Given the description of an element on the screen output the (x, y) to click on. 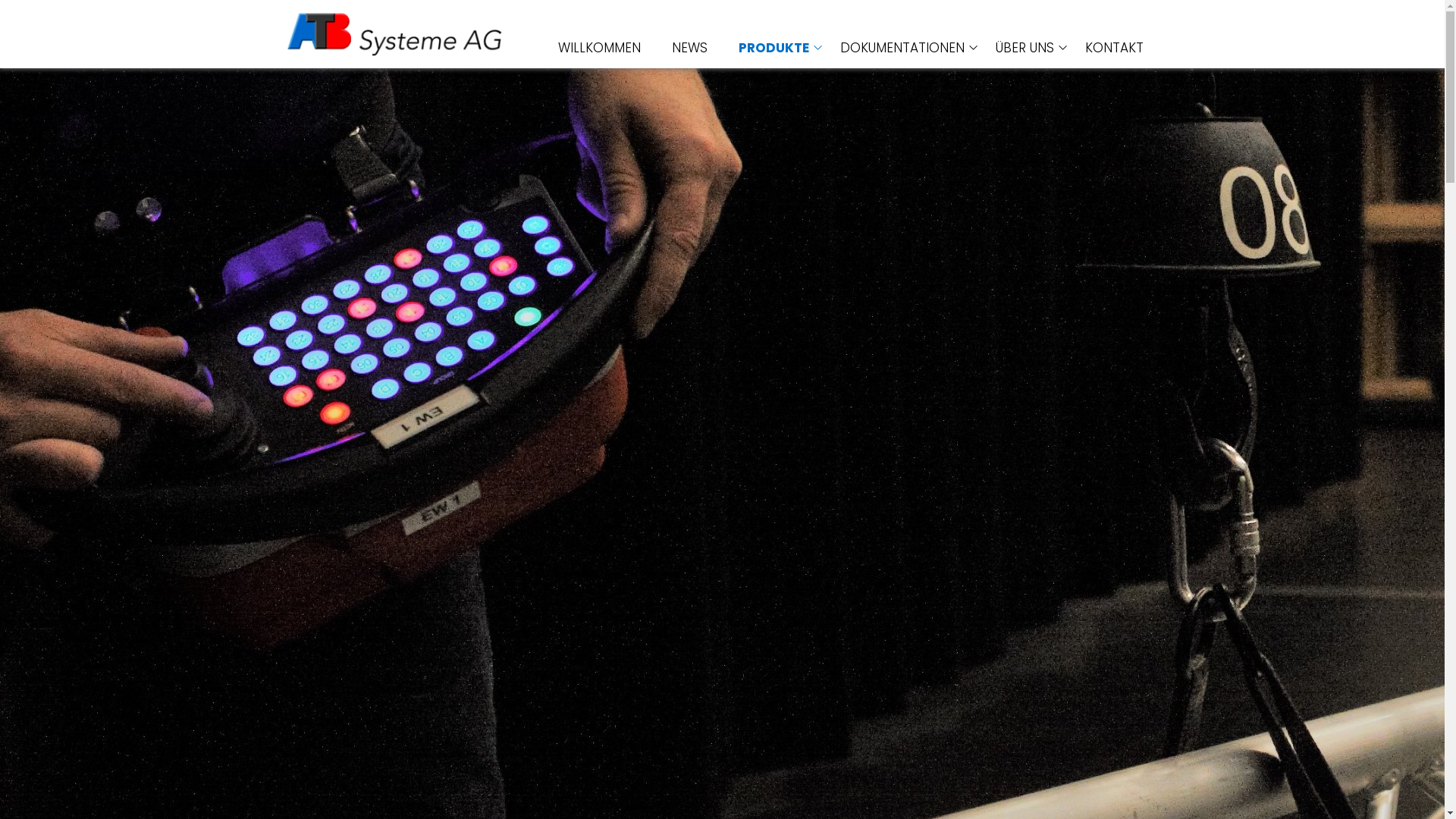
DOKUMENTATIONEN Element type: text (902, 47)
KONTAKT Element type: text (1113, 47)
PRODUKTE Element type: text (773, 47)
WILLKOMMEN Element type: text (599, 47)
ATB Systeme AG Element type: hover (393, 33)
NEWS Element type: text (689, 47)
